Given the description of an element on the screen output the (x, y) to click on. 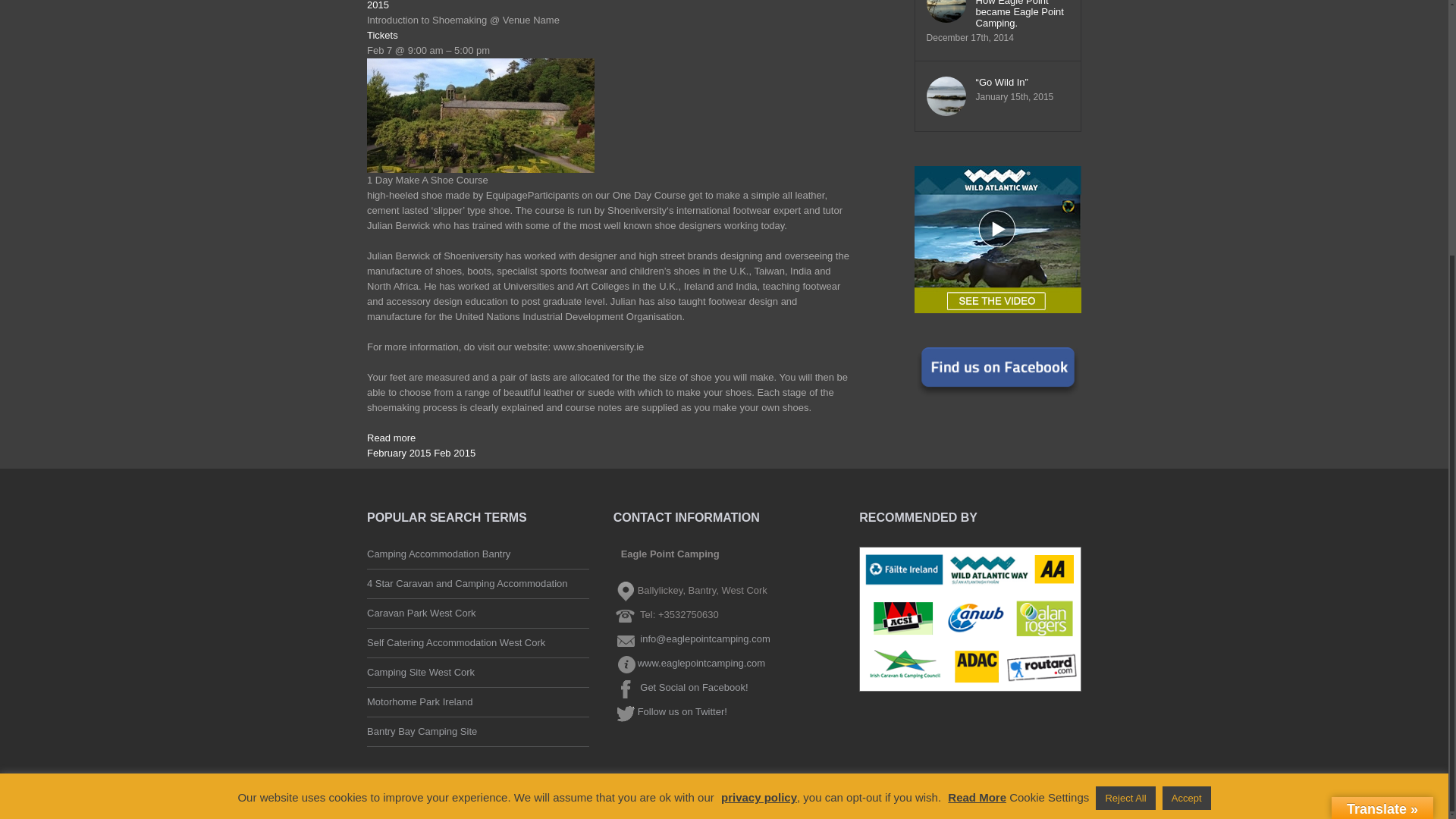
Choose a date using calendar (421, 452)
